Given the description of an element on the screen output the (x, y) to click on. 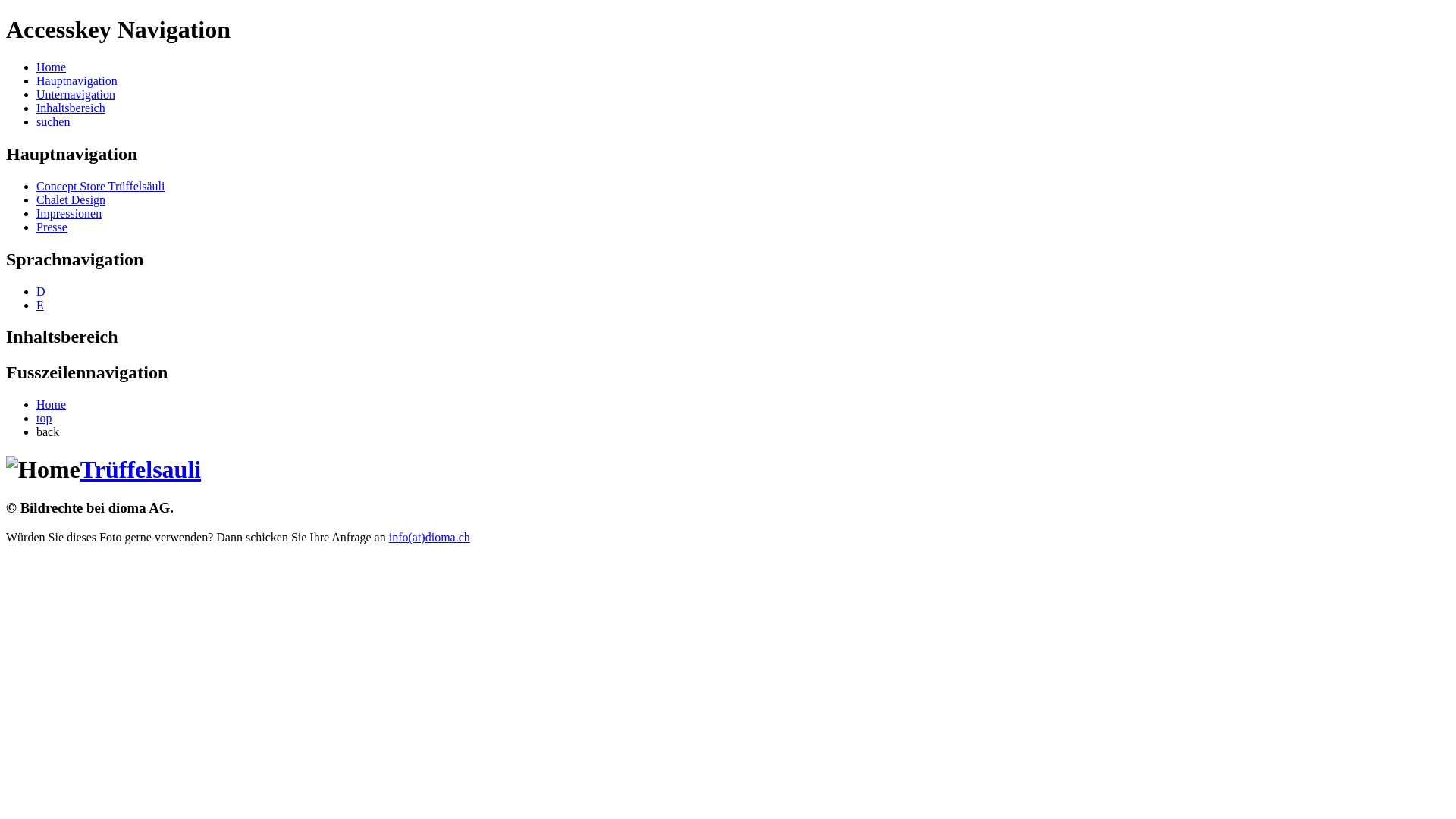
info(at)dioma.ch Element type: text (429, 536)
Presse Element type: text (51, 226)
Impressionen Element type: text (68, 213)
suchen Element type: text (52, 121)
D Element type: text (40, 291)
back Element type: text (47, 431)
Inhaltsbereich Element type: text (70, 107)
E Element type: text (39, 304)
top Element type: text (43, 417)
Chalet Design Element type: text (70, 199)
Home Element type: text (50, 66)
Home Element type: text (50, 404)
Hauptnavigation Element type: text (76, 80)
Unternavigation Element type: text (75, 93)
